Given the description of an element on the screen output the (x, y) to click on. 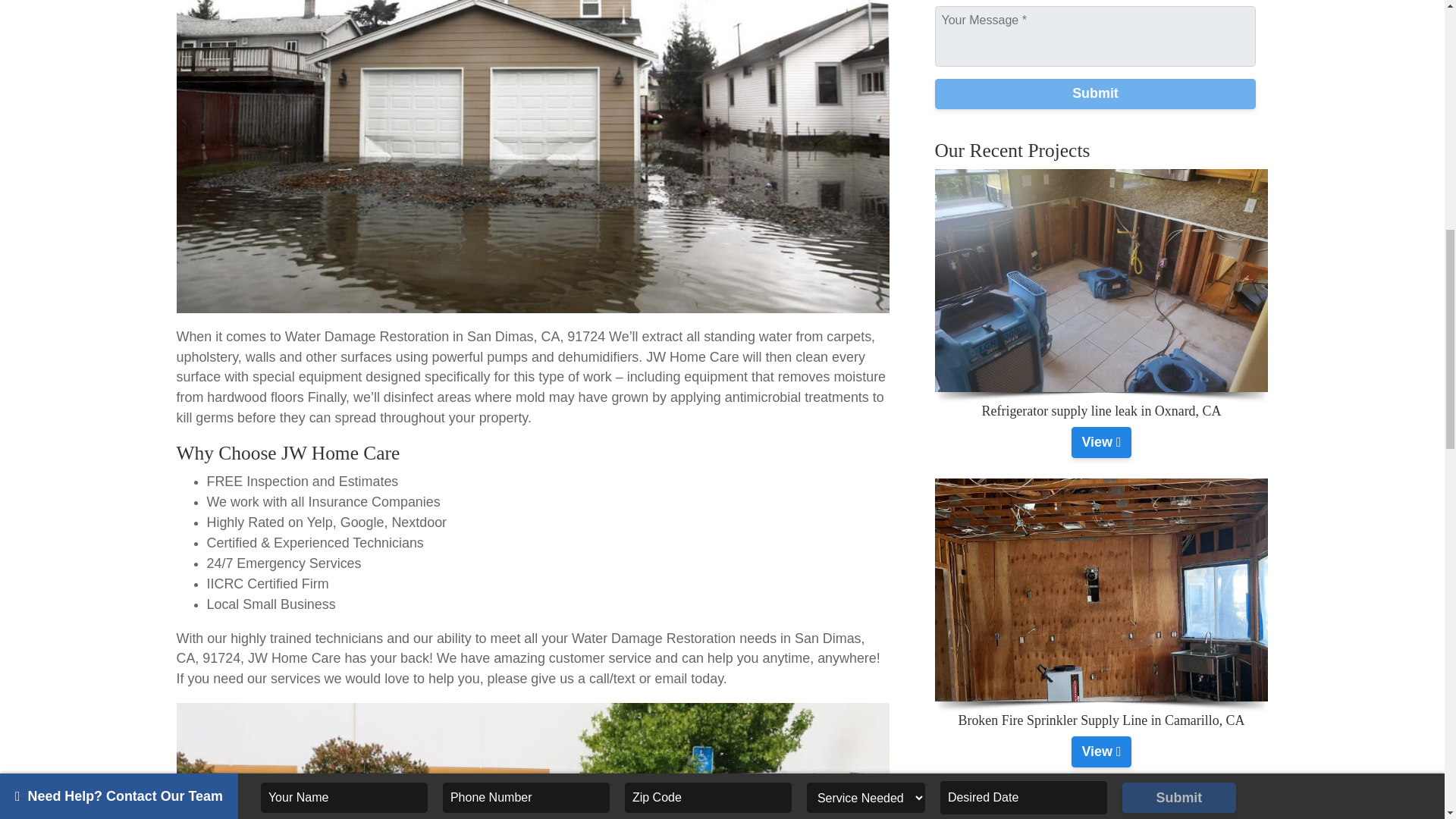
Submit (1094, 93)
Broken Fire Sprinkler Supply Line in Camarillo, CA (1101, 751)
Refrigerator supply line leak in Oxnard, CA (1101, 441)
